Given the description of an element on the screen output the (x, y) to click on. 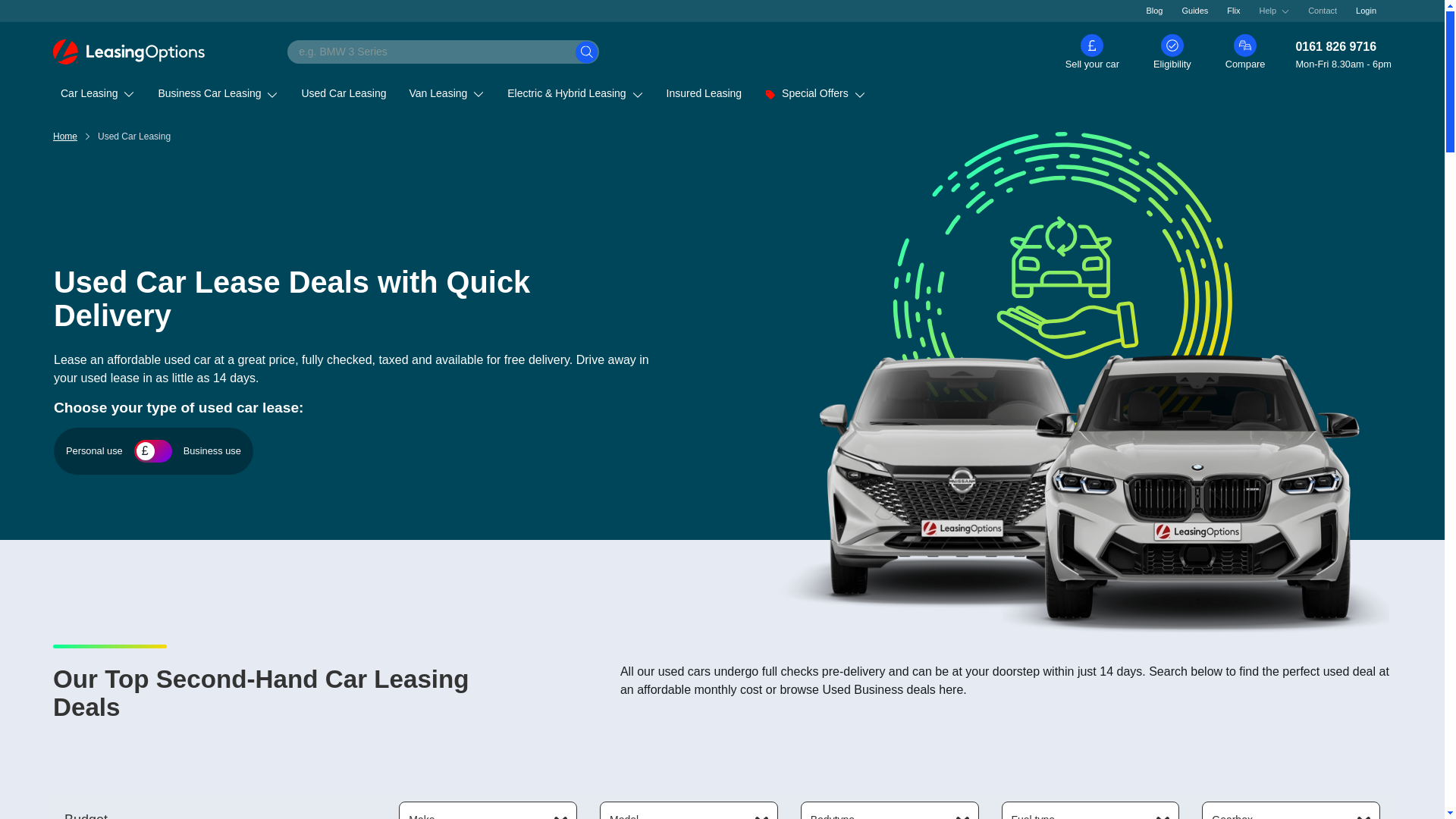
Contact (1322, 10)
Blog (1153, 10)
Eligibility (1171, 51)
0161 826 9716 (1343, 46)
Flix (1233, 10)
Help (1273, 10)
Sell your car (1092, 51)
Compare (1245, 51)
Guides (1194, 10)
Return To Homepage (128, 51)
